Given the description of an element on the screen output the (x, y) to click on. 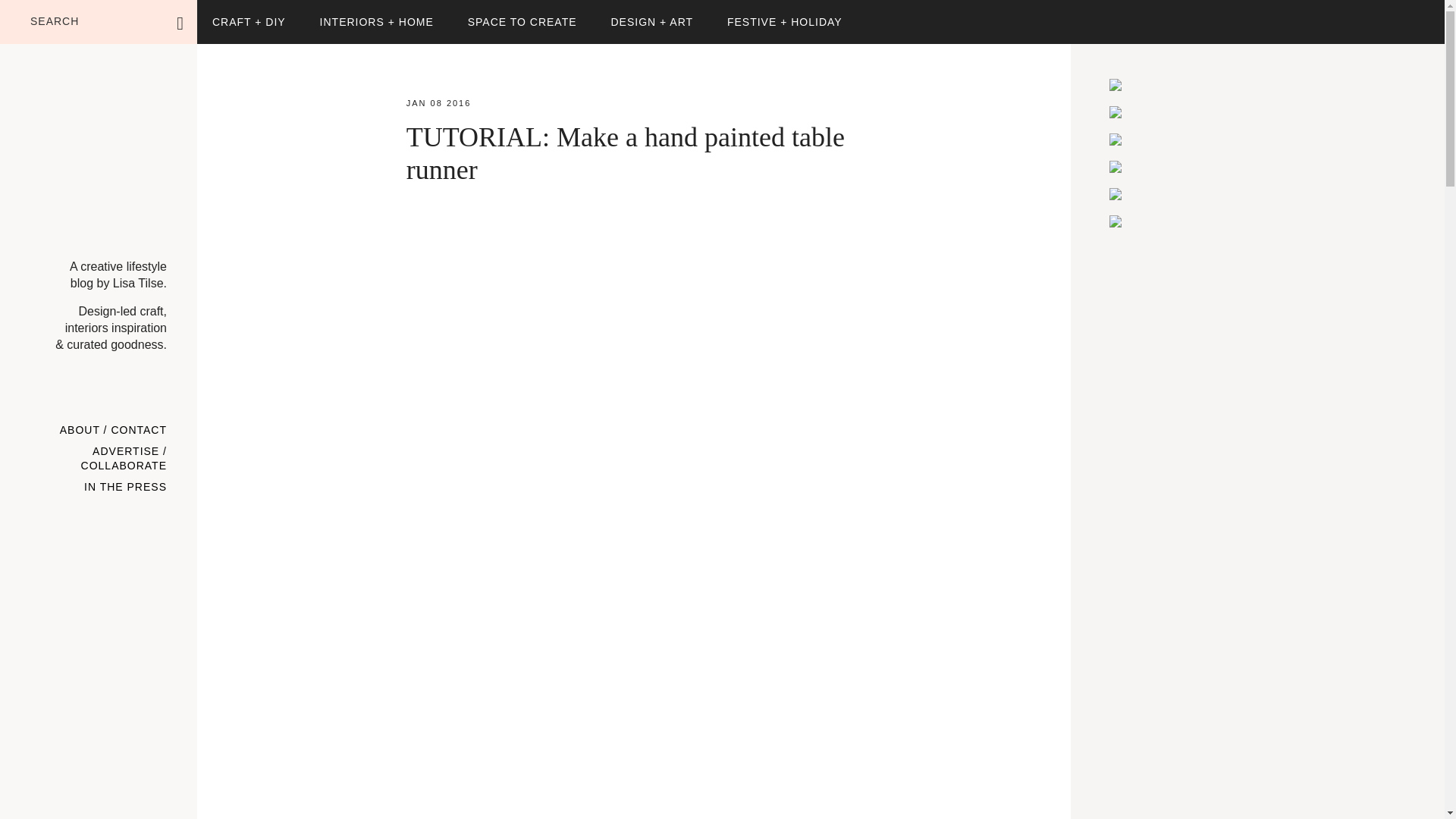
SPACE TO CREATE (522, 22)
CONTACT (138, 430)
Search (228, 13)
Search (228, 13)
